Given the description of an element on the screen output the (x, y) to click on. 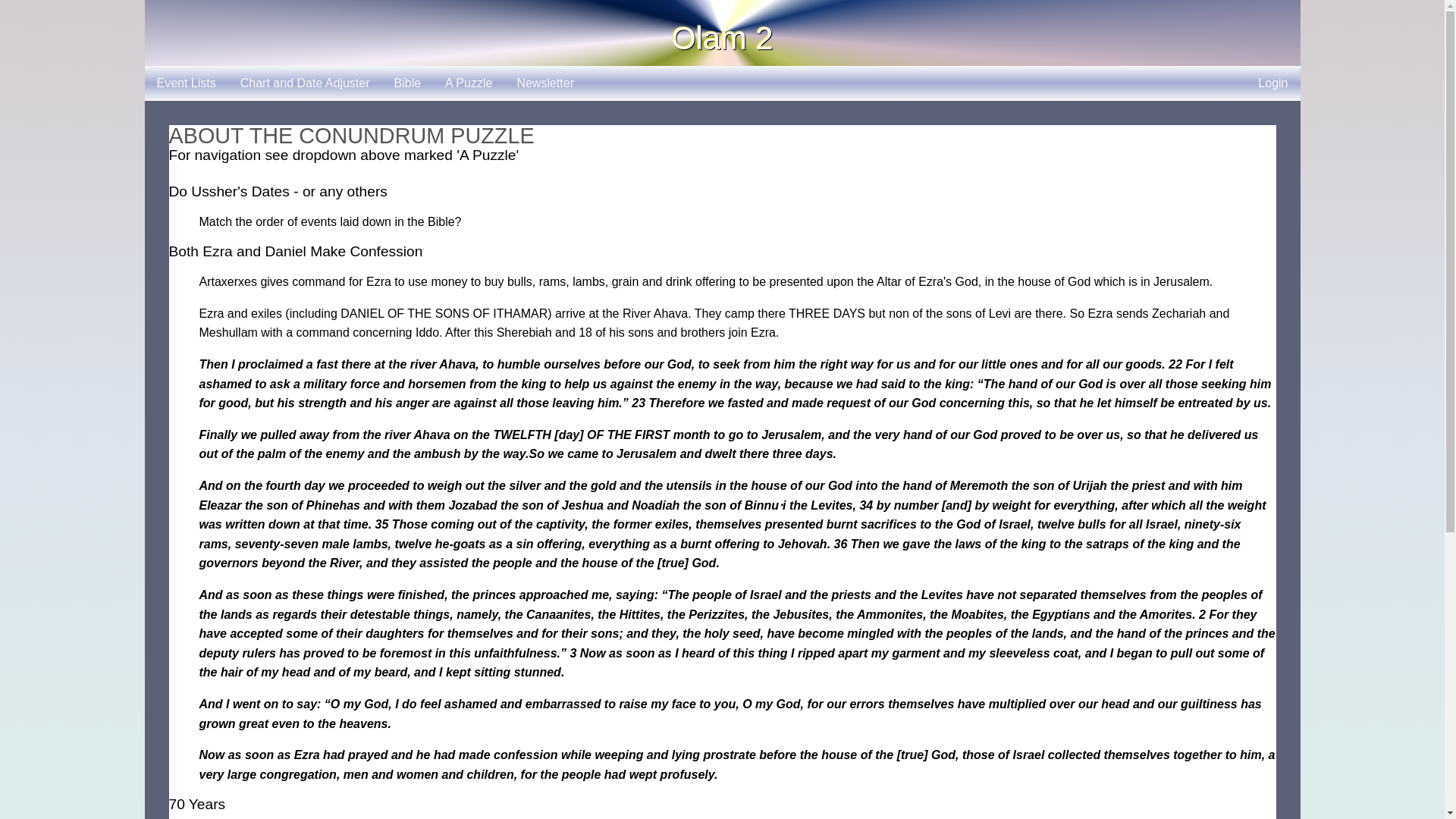
Newsletter (544, 83)
Event Lists (185, 83)
Chart and Date Adjuster (304, 83)
Bible (407, 83)
Olam 2 (722, 38)
A Puzzle (467, 83)
